Given the description of an element on the screen output the (x, y) to click on. 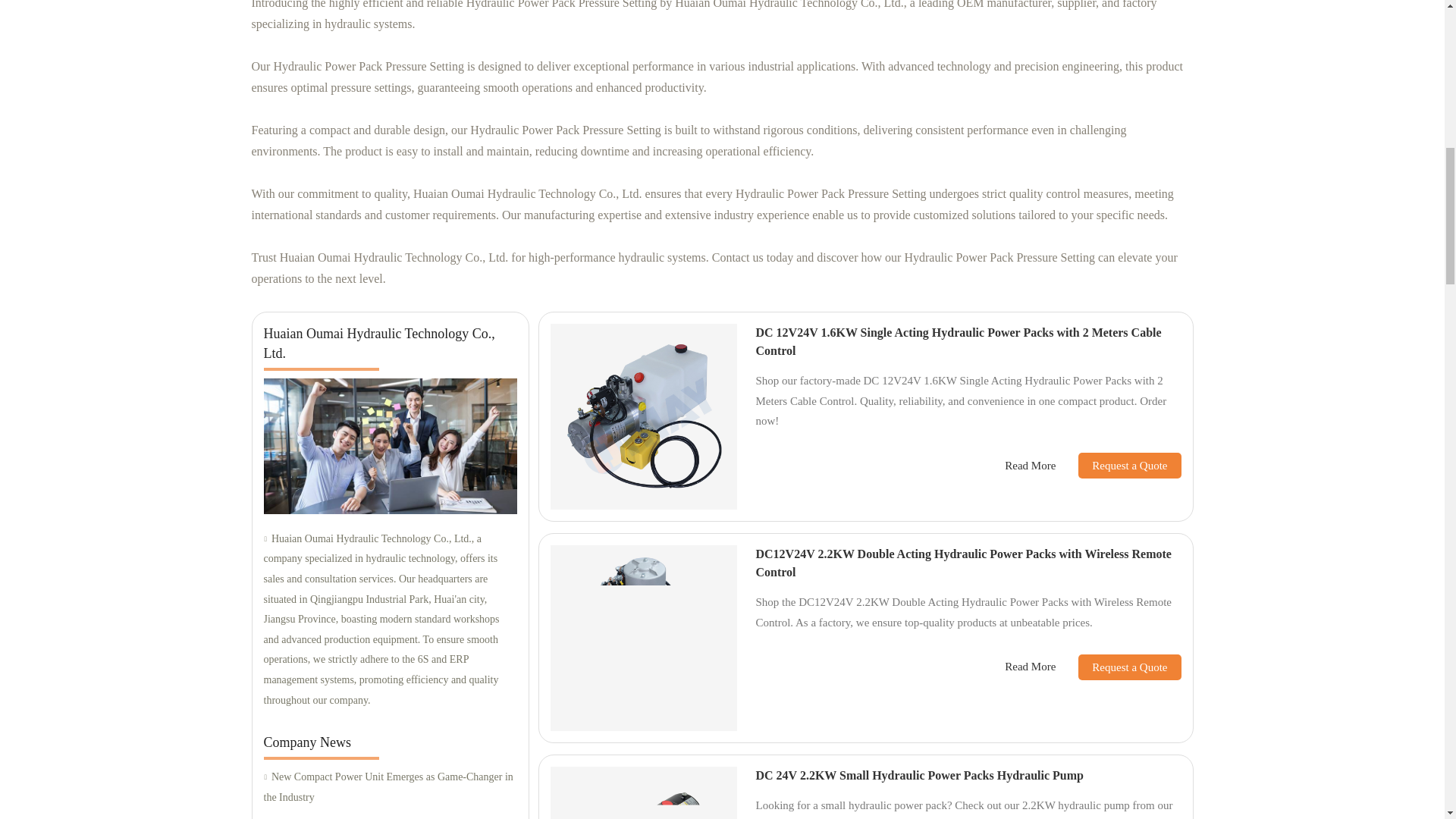
Read More (1029, 465)
Request a Quote (1117, 465)
Request a Quote (1117, 667)
Read More (1029, 666)
DC 24V 2.2KW Small Hydraulic Power Packs Hydraulic Pump (919, 775)
